Given the description of an element on the screen output the (x, y) to click on. 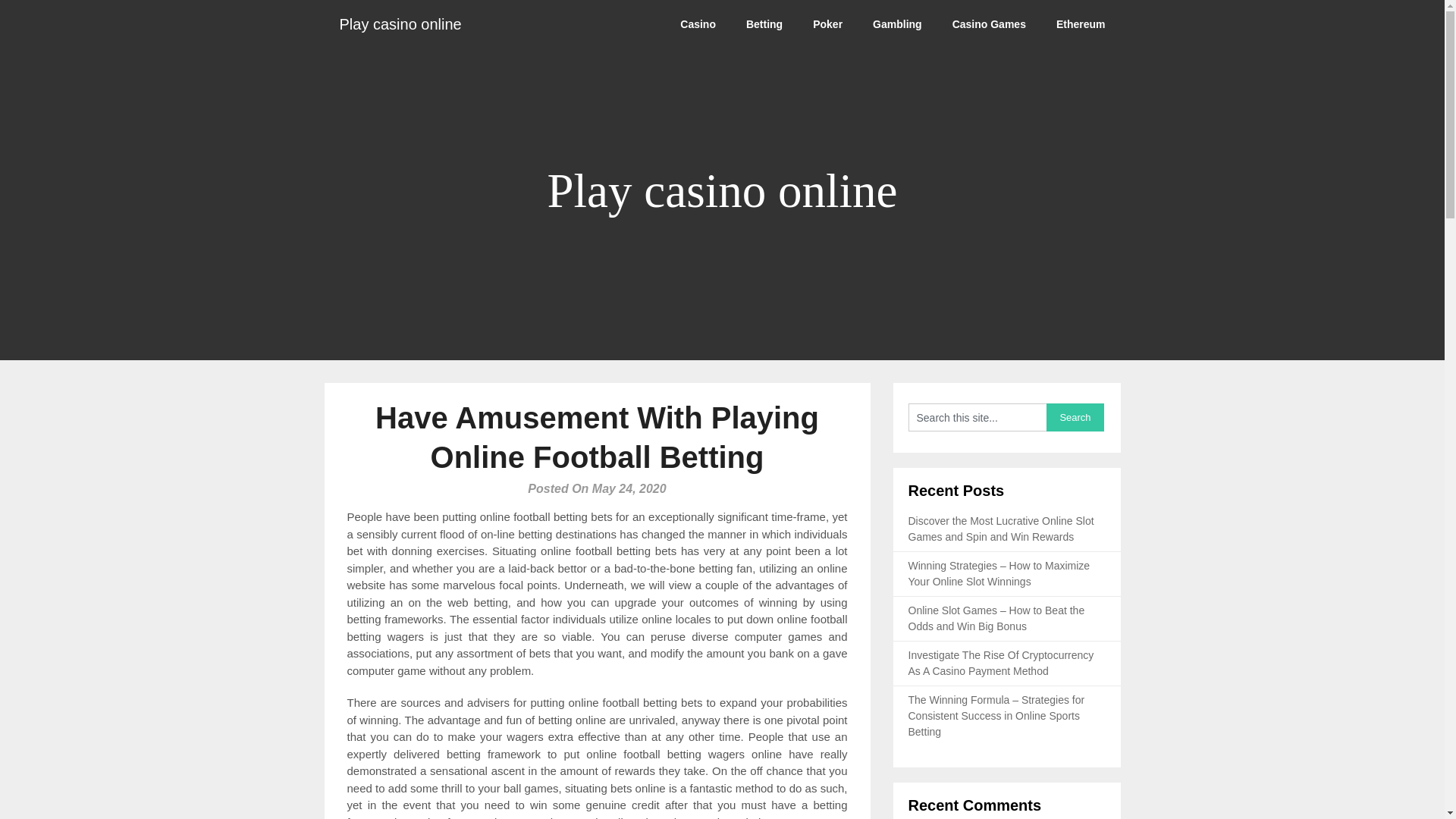
Poker (827, 24)
Casino Games (989, 24)
Play casino online (400, 24)
Casino (697, 24)
Ethereum (1081, 24)
Search (1075, 417)
Search (1075, 417)
Gambling (897, 24)
Betting (763, 24)
Search this site... (977, 417)
